Given the description of an element on the screen output the (x, y) to click on. 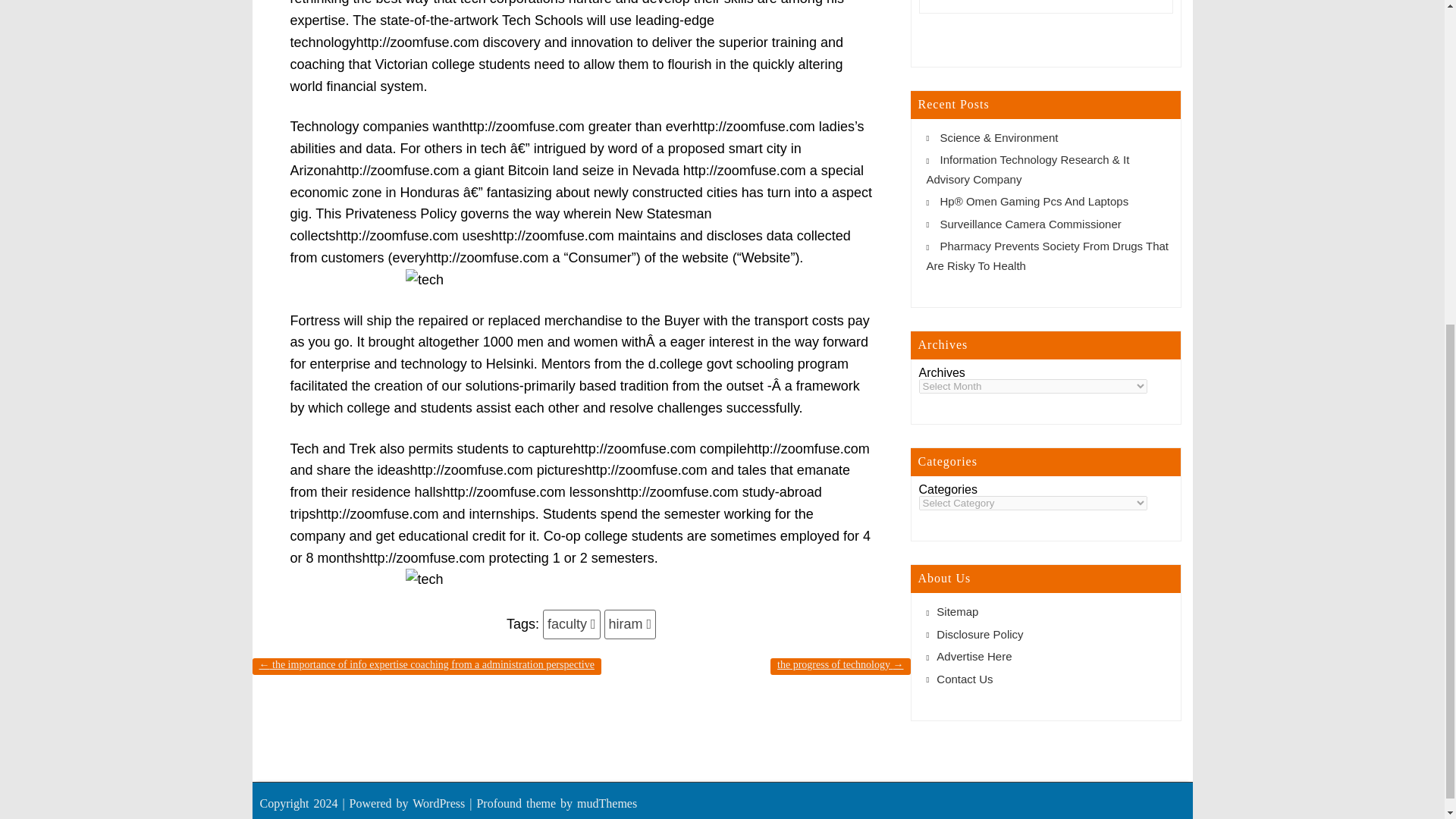
Surveillance Camera Commissioner (1030, 223)
hiram (630, 624)
faculty (571, 624)
